Given the description of an element on the screen output the (x, y) to click on. 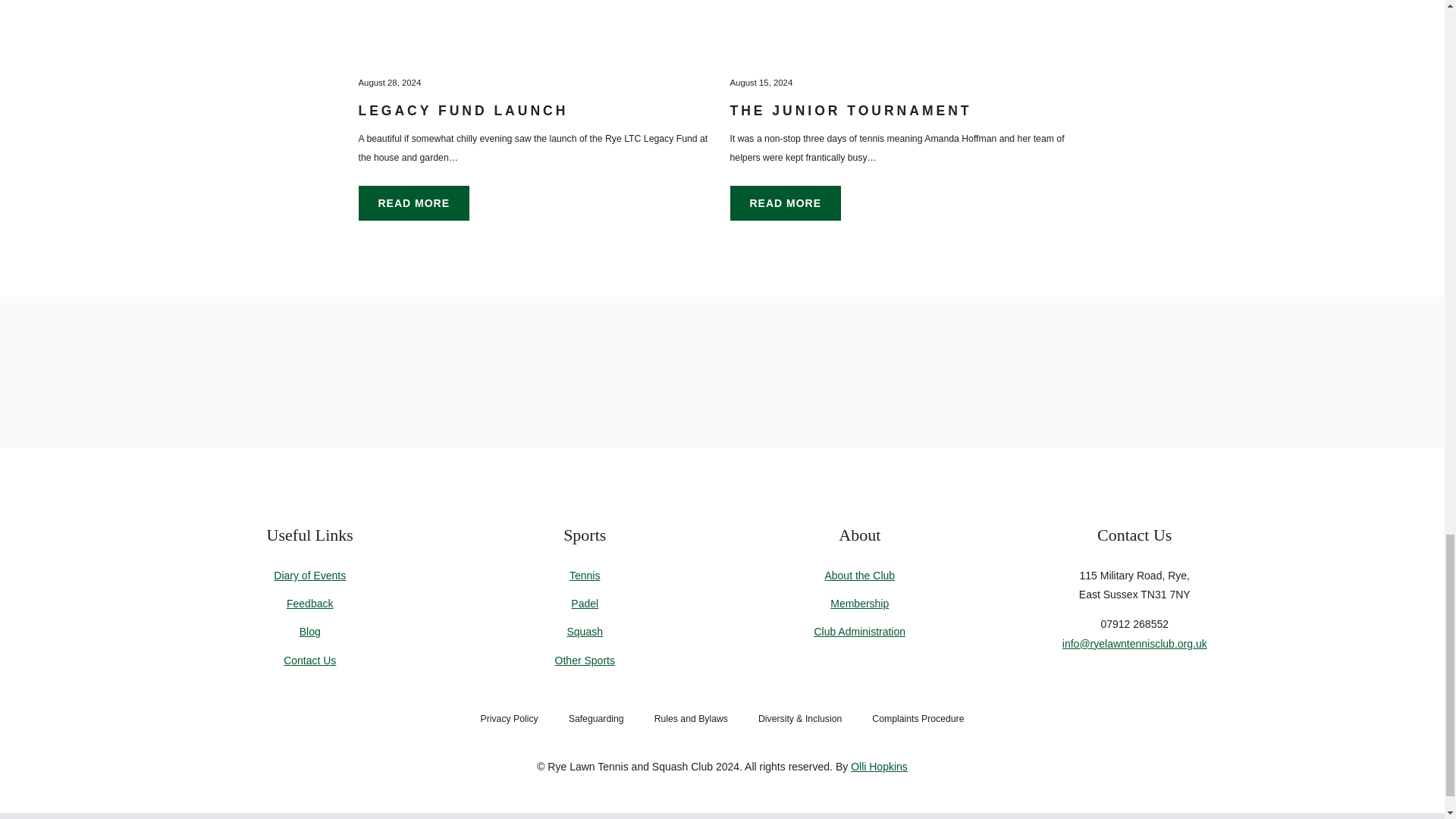
August 28, 2024 (389, 81)
LEGACY FUND LAUNCH (462, 110)
READ MORE (413, 202)
